Given the description of an element on the screen output the (x, y) to click on. 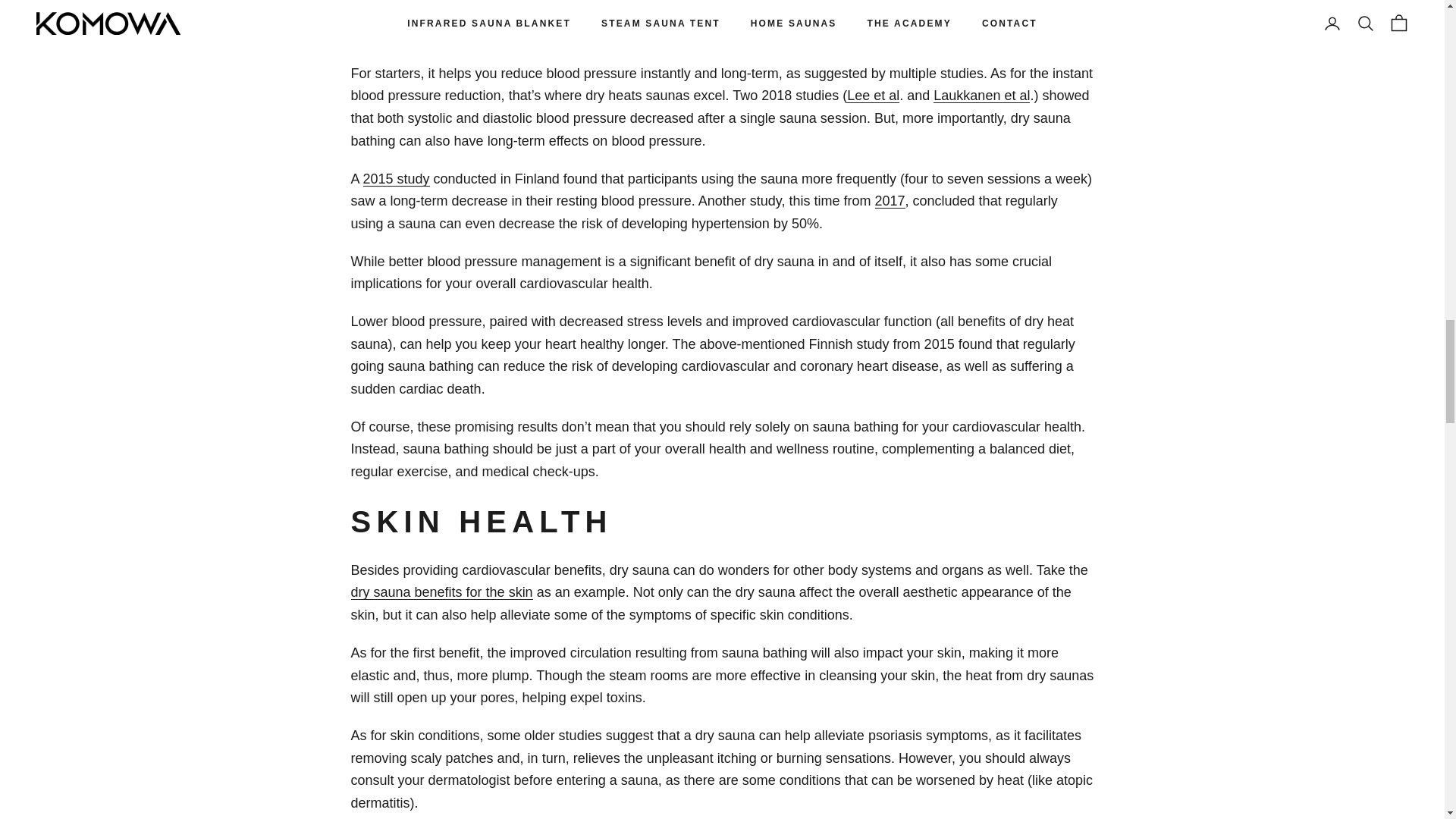
Lee et al (873, 95)
2017 (890, 200)
The Ultimate Guide to Sauna Benefits for Skin (441, 591)
2015 study (395, 178)
Laukkanen et al (981, 95)
dry sauna benefits for the skin (441, 591)
